Given the description of an element on the screen output the (x, y) to click on. 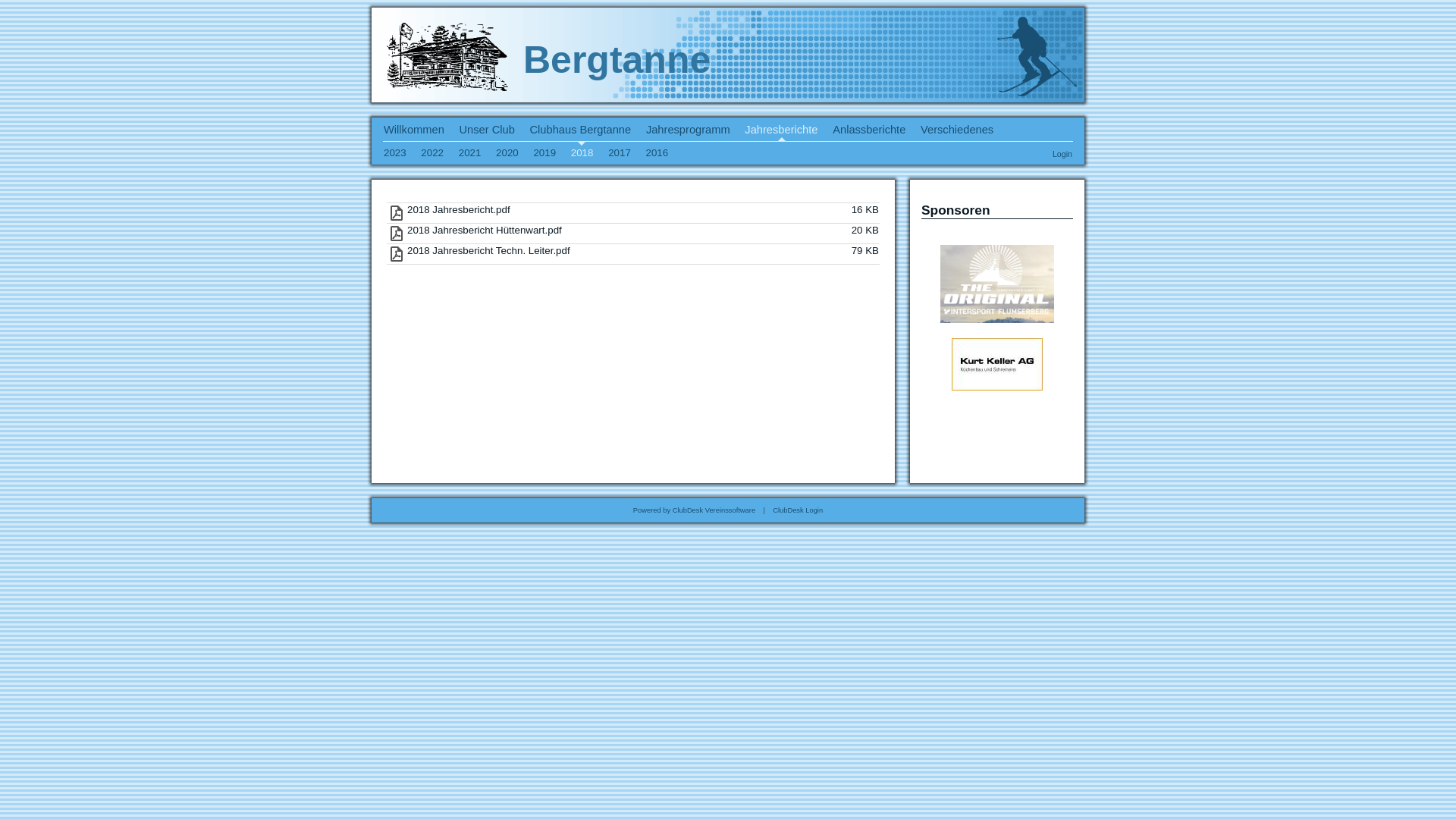
Verschiedenes Element type: text (956, 129)
Willkommen Element type: text (413, 129)
2023 Element type: text (394, 152)
2018 Element type: text (582, 152)
Login Element type: text (1062, 153)
2016 Element type: text (657, 152)
Powered by ClubDesk Vereinssoftware Element type: text (694, 510)
2018 Jahresbericht.pdf Element type: text (458, 209)
2021 Element type: text (469, 152)
79 KB Element type: text (864, 250)
2018 Jahresbericht Techn. Leiter.pdf Element type: text (488, 250)
20 KB Element type: text (864, 229)
Clubhaus Bergtanne Element type: text (580, 129)
2019 Element type: text (544, 152)
2017 Element type: text (619, 152)
Unser Club Element type: text (486, 129)
ClubDesk Login Element type: text (797, 510)
Anlassberichte Element type: text (868, 129)
Jahresprogramm Element type: text (688, 129)
Jahresberichte Element type: text (780, 129)
2022 Element type: text (431, 152)
16 KB Element type: text (864, 209)
2020 Element type: text (506, 152)
